Given the description of an element on the screen output the (x, y) to click on. 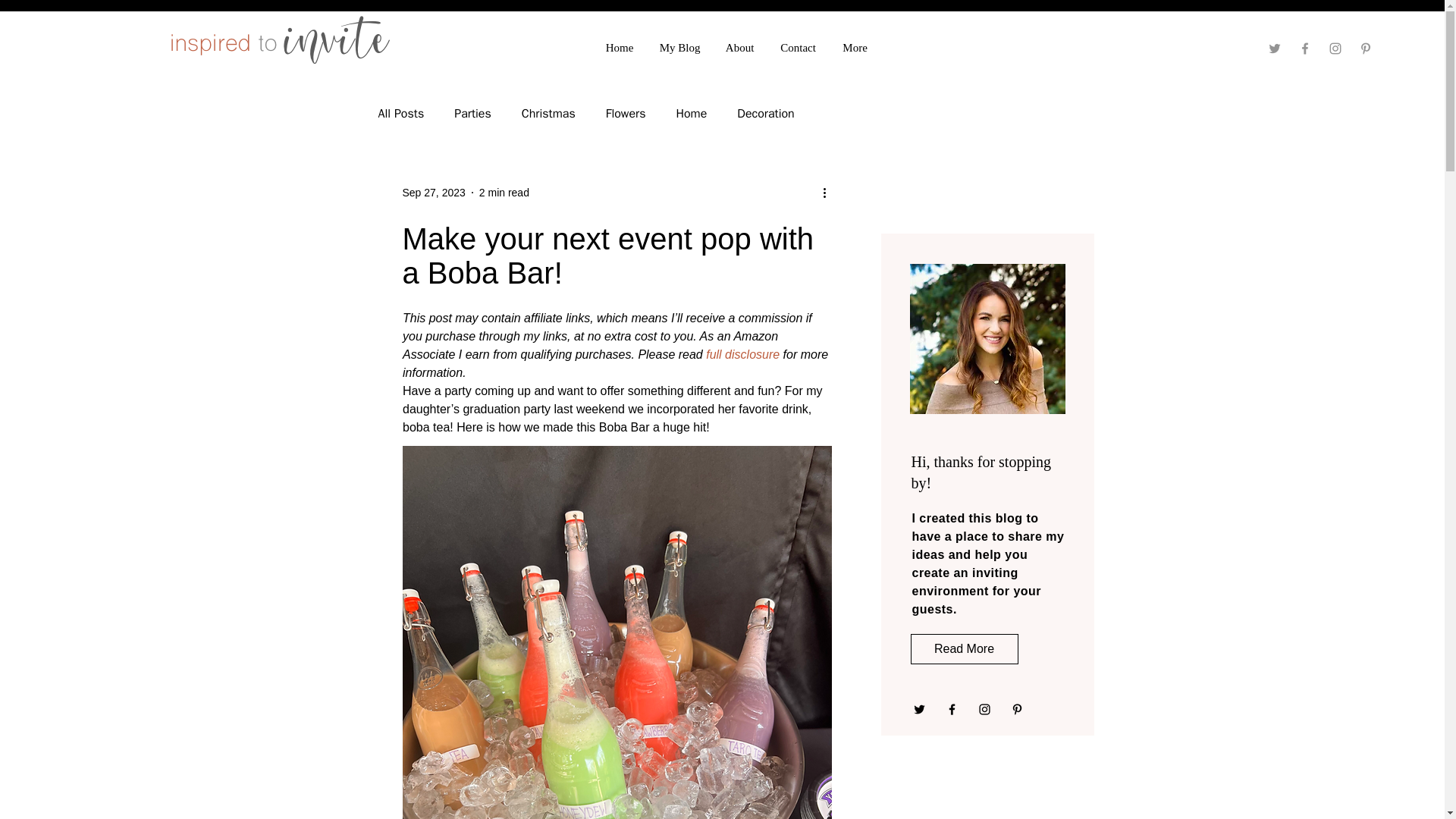
Parties (473, 114)
Christmas (548, 114)
Home (690, 114)
2 min read (504, 192)
About (740, 47)
Decoration (764, 114)
My Blog (679, 47)
Flowers (625, 114)
Home (619, 47)
Sep 27, 2023 (432, 192)
